Given the description of an element on the screen output the (x, y) to click on. 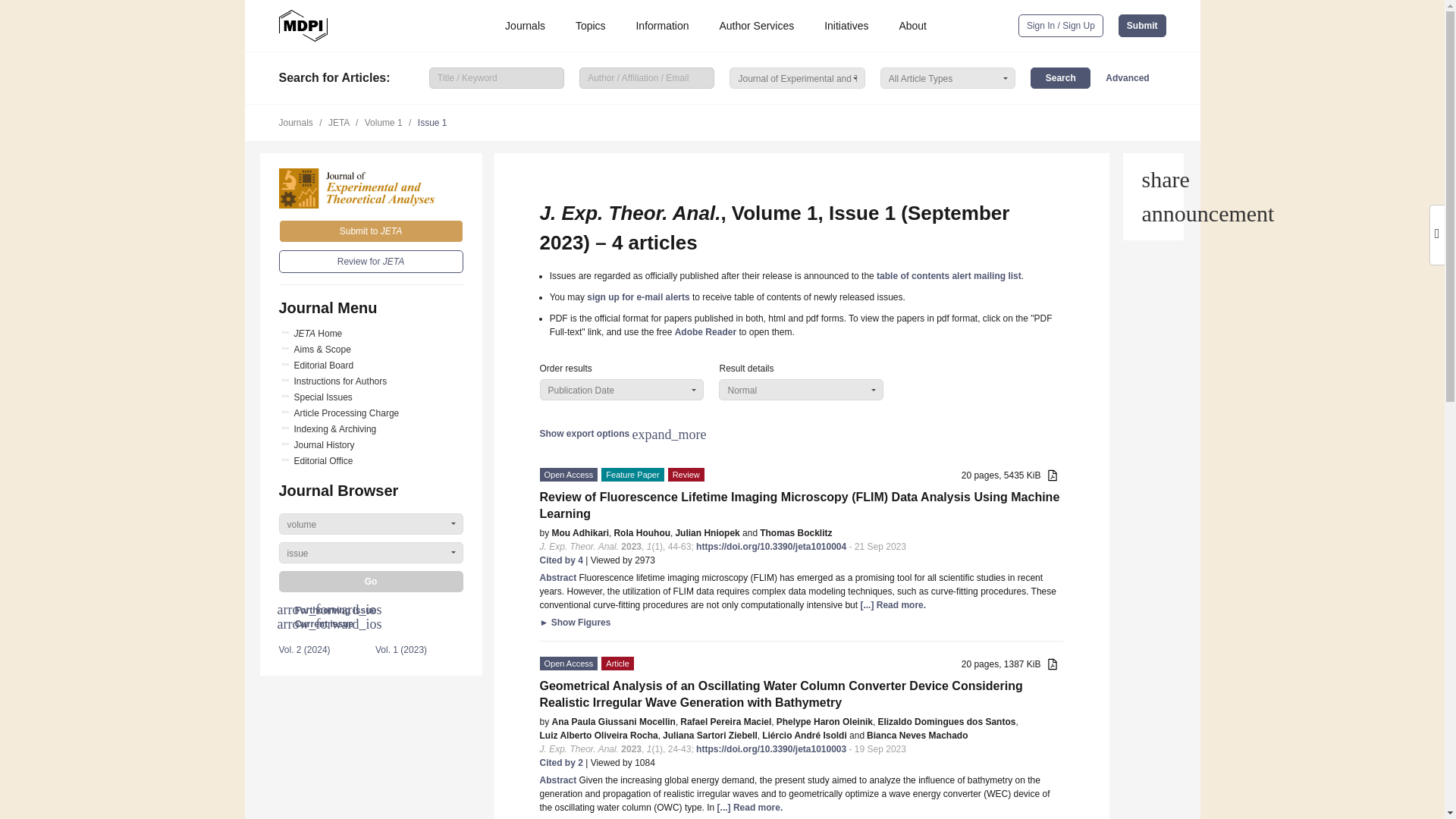
MDPI Open Access Journals (303, 25)
Search (1060, 77)
Help (1152, 213)
Go (371, 581)
Journal of Experimental and Theoretical Analyses (371, 188)
Search (1060, 77)
Share (1152, 179)
